Given the description of an element on the screen output the (x, y) to click on. 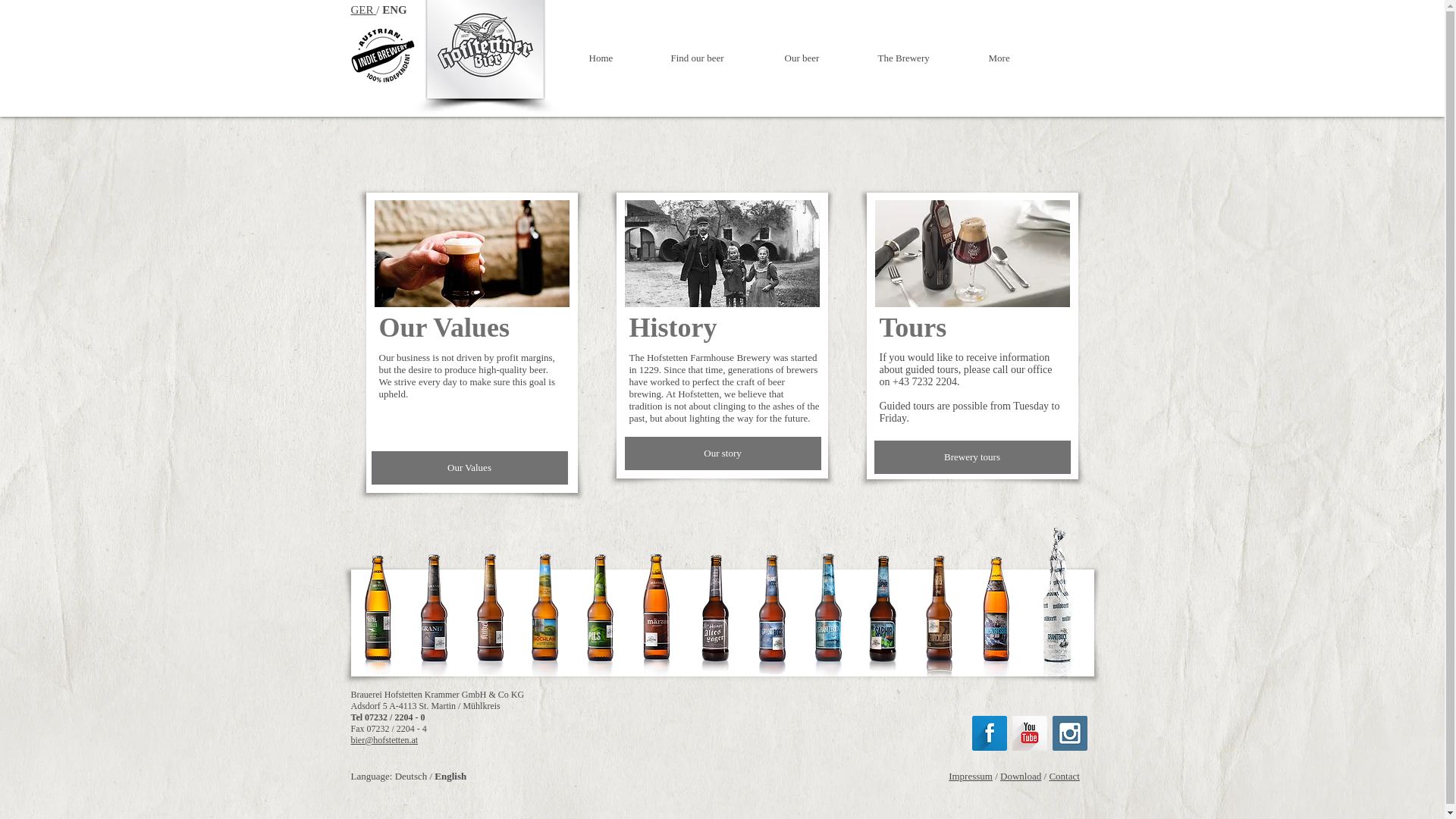
The Brewery (921, 57)
GER (361, 9)
Home (618, 57)
Find our beer (716, 57)
Granitbock (471, 253)
Our beer (819, 57)
More (1015, 57)
Caspar Krammer (721, 253)
Our story (722, 453)
Logo Hofstetten (484, 49)
Our Values (469, 467)
Granitbock Gedeck (972, 253)
